Given the description of an element on the screen output the (x, y) to click on. 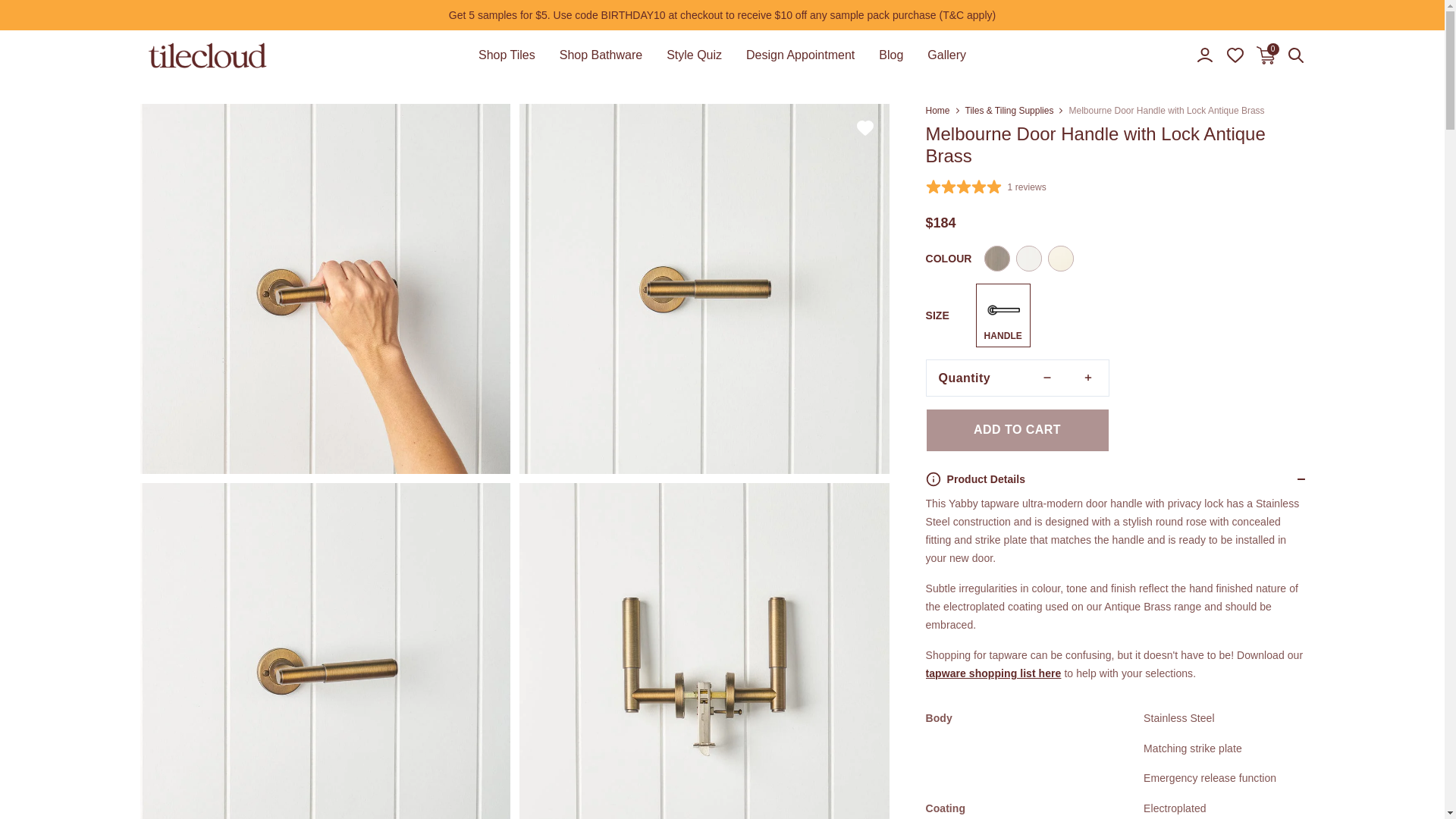
Brushed-brass (1061, 258)
Design Appointment (799, 55)
Login (1264, 54)
Antique-brass (1203, 54)
Warm-Brushed-Nickel (997, 258)
Blog (1029, 258)
Shop Tiles (890, 55)
Search (507, 55)
Gallery (1294, 54)
Shop Bathware (946, 55)
Style Quiz (600, 55)
